Given the description of an element on the screen output the (x, y) to click on. 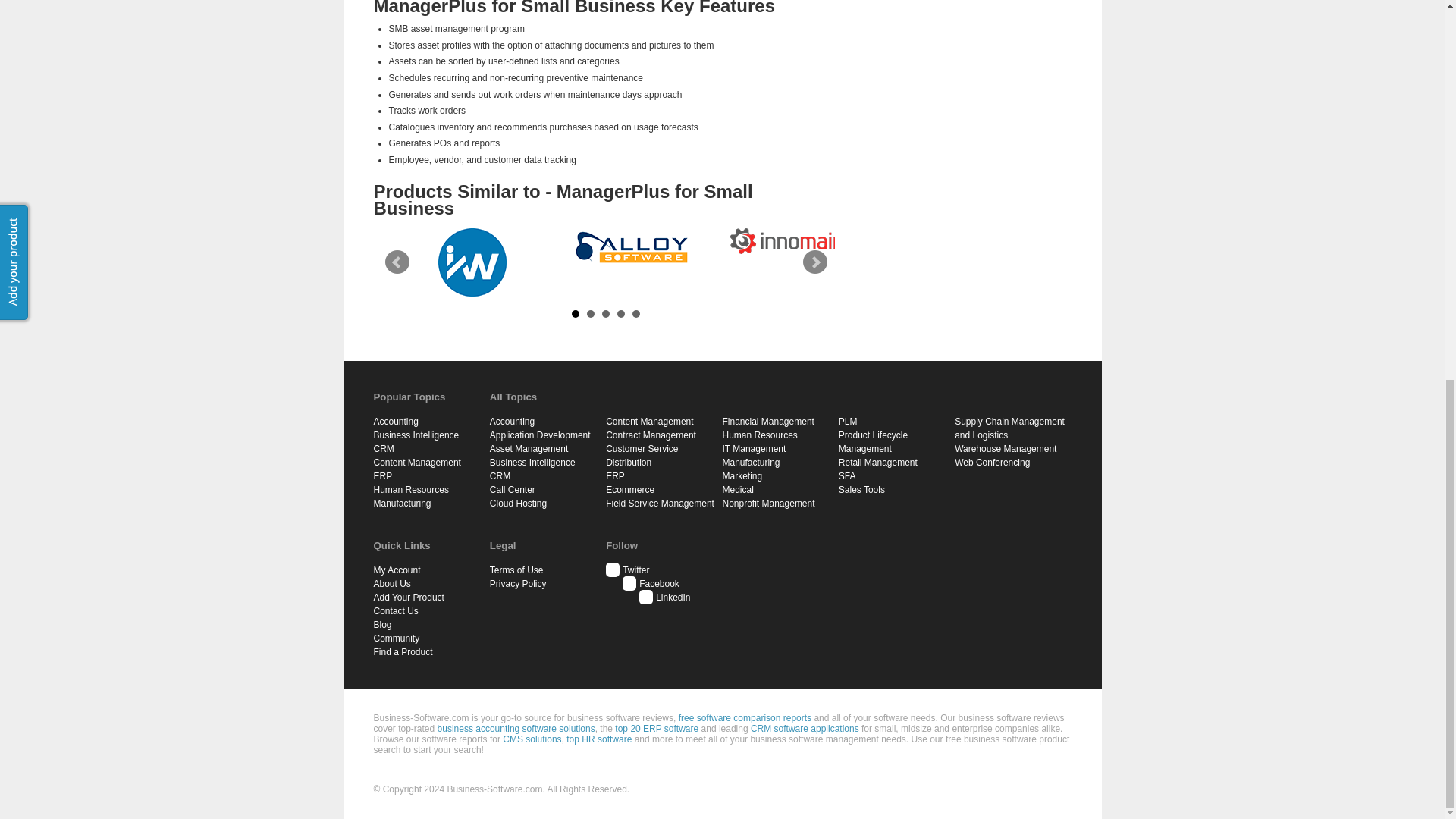
Digizuite DAM Media Management (312, 243)
InnoThink InfoTech InnoMaint (790, 240)
Alloy Discovery (630, 247)
Alloy Discovery (631, 247)
InvestWell Software (472, 262)
InnoThink InfoTech InnoMaint (789, 240)
InvestWell Software (472, 262)
